Given the description of an element on the screen output the (x, y) to click on. 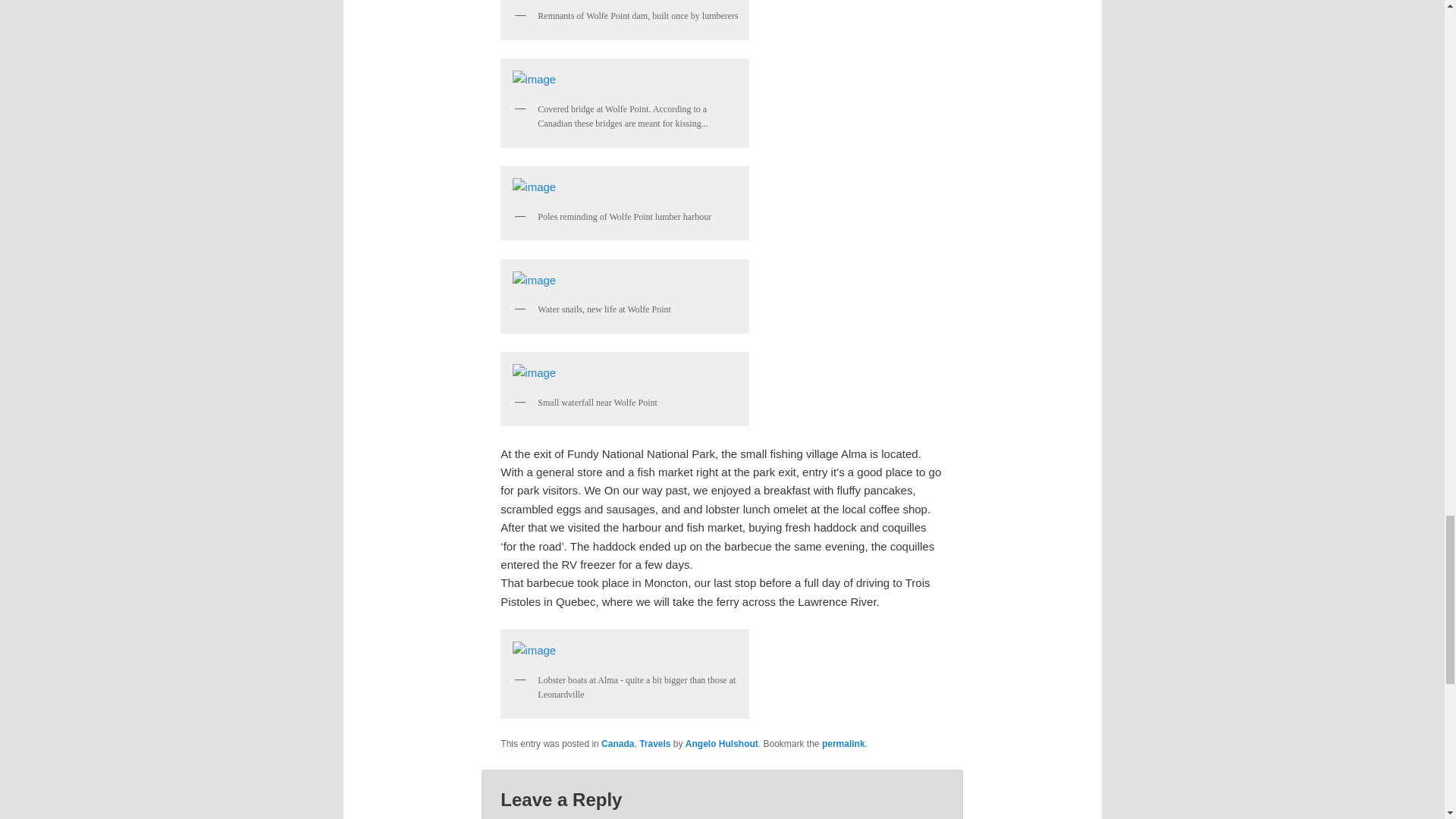
Travels (654, 743)
1342671621749.jpg (624, 186)
1342671698174.jpg (624, 372)
1342671576609.jpg (624, 79)
permalink (843, 743)
Canada (617, 743)
1342671734432.jpg (624, 280)
Angelo Hulshout (721, 743)
